Given the description of an element on the screen output the (x, y) to click on. 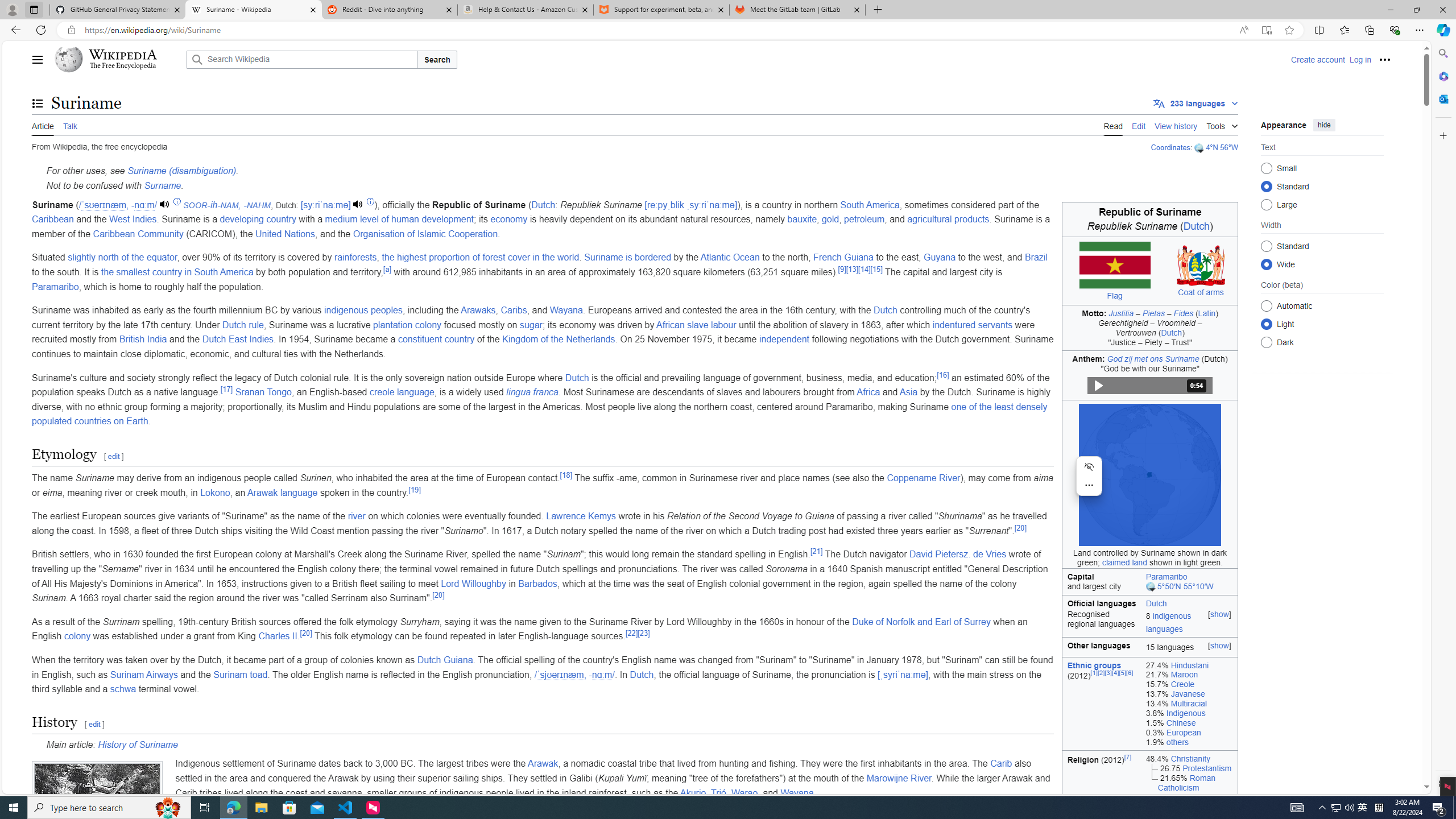
Suriname (disambiguation) (180, 171)
21.65% Roman Catholicism (1189, 782)
Large (1266, 204)
Coordinates (1170, 146)
schwa (122, 688)
Protestantism (1206, 768)
hide (1324, 124)
Class: mw-list-item mw-list-item-js (1321, 323)
Flag of Suriname (1114, 264)
Log in (1360, 58)
Suriname is bordered (627, 257)
sugar (531, 324)
